Given the description of an element on the screen output the (x, y) to click on. 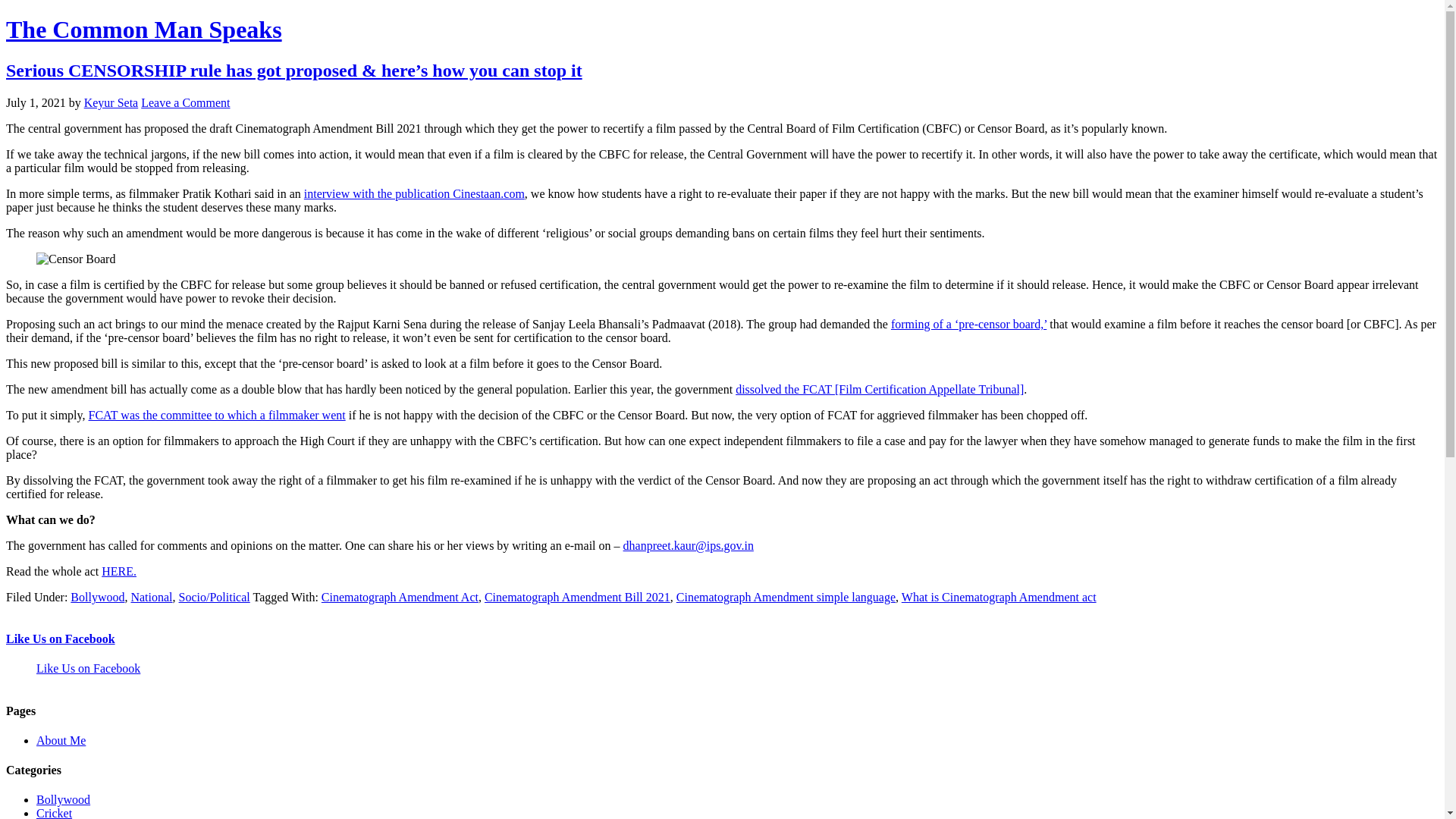
Like Us on Facebook (60, 638)
Leave a Comment (185, 102)
Cricket (53, 812)
Bollywood (96, 596)
Like Us on Facebook (87, 667)
FCAT was the committee to which a filmmaker went (217, 414)
National (151, 596)
The Common Man Speaks (143, 29)
Cinematograph Amendment simple language (786, 596)
What is Cinematograph Amendment act (998, 596)
HERE. (118, 571)
Keyur Seta (111, 102)
Cinematograph Amendment Act (400, 596)
Cinematograph Amendment Bill 2021 (576, 596)
interview with the publication Cinestaan.com (414, 193)
